Given the description of an element on the screen output the (x, y) to click on. 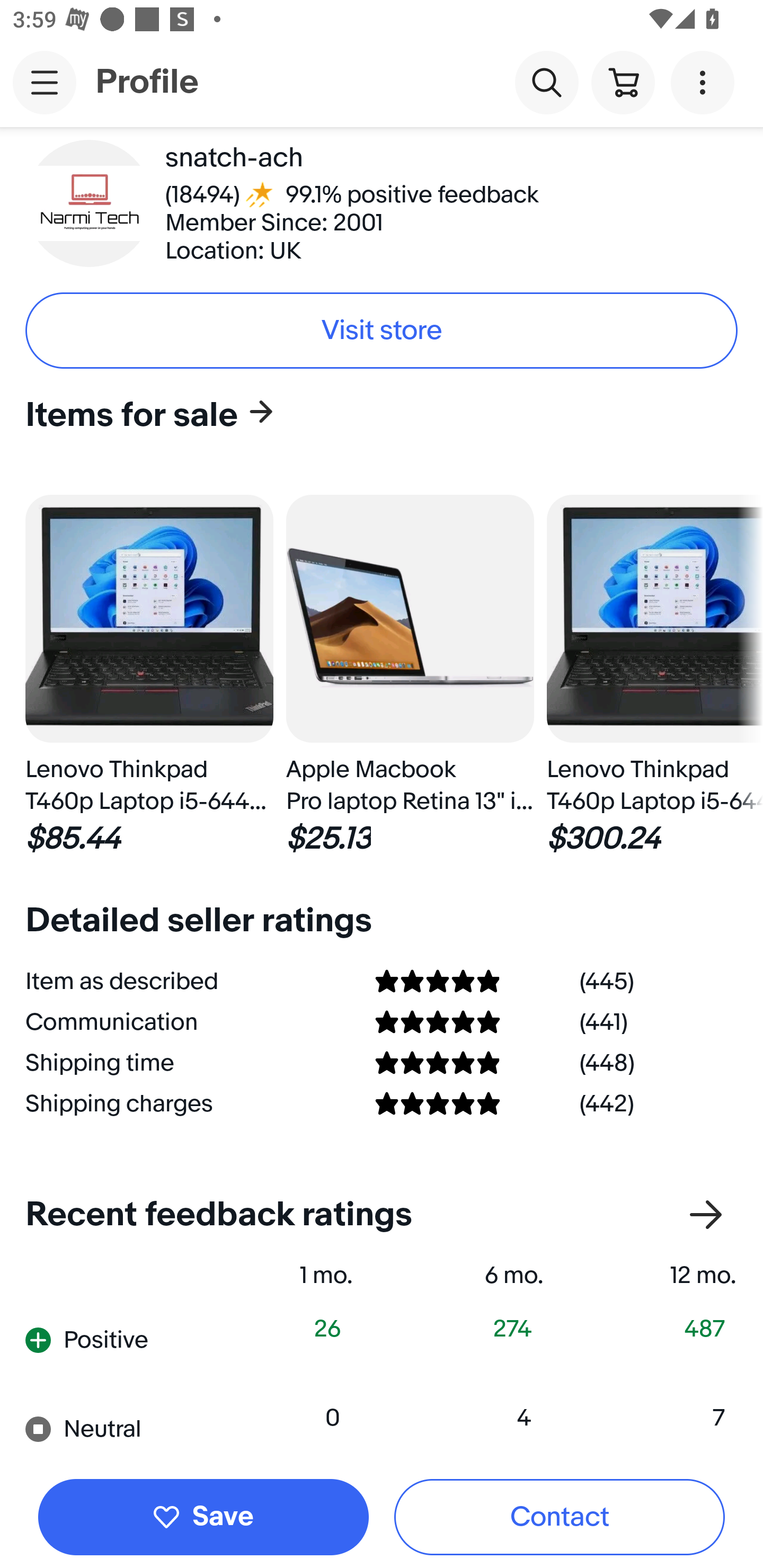
Main navigation, open (44, 82)
Search (546, 81)
Cart button shopping cart (623, 81)
More options (705, 81)
Visit store (381, 329)
Items for sale Items for sale   (374, 414)
Recent feedback ratings (381, 1214)
Positive Open all positive rating details. (112, 1339)
Neutral Open all neutral rating details. (112, 1428)
Save (203, 1516)
Contact (559, 1516)
